Given the description of an element on the screen output the (x, y) to click on. 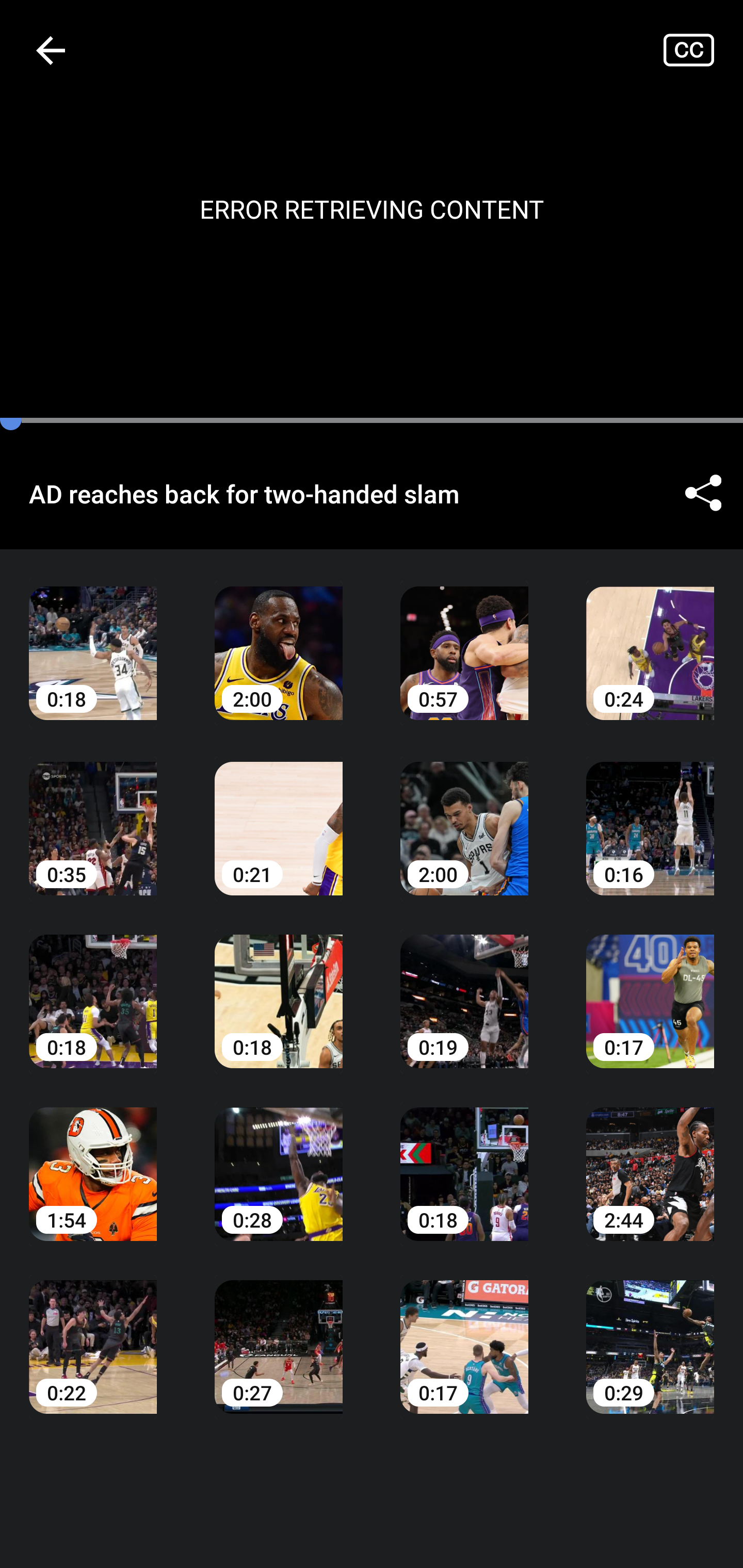
Navigate up (50, 50)
Closed captions  (703, 49)
Share © (703, 493)
0:18 (92, 637)
2:00 (278, 637)
0:57 (464, 637)
0:24 (650, 637)
0:35 (92, 813)
0:21 (278, 813)
2:00 (464, 813)
0:16 (650, 813)
0:18 (92, 987)
0:18 (278, 987)
0:19 (464, 987)
0:17 (650, 987)
1:54 (92, 1160)
0:28 (278, 1160)
0:18 (464, 1160)
2:44 (650, 1160)
0:22 (92, 1332)
0:27 (278, 1332)
0:17 (464, 1332)
0:29 (650, 1332)
